Given the description of an element on the screen output the (x, y) to click on. 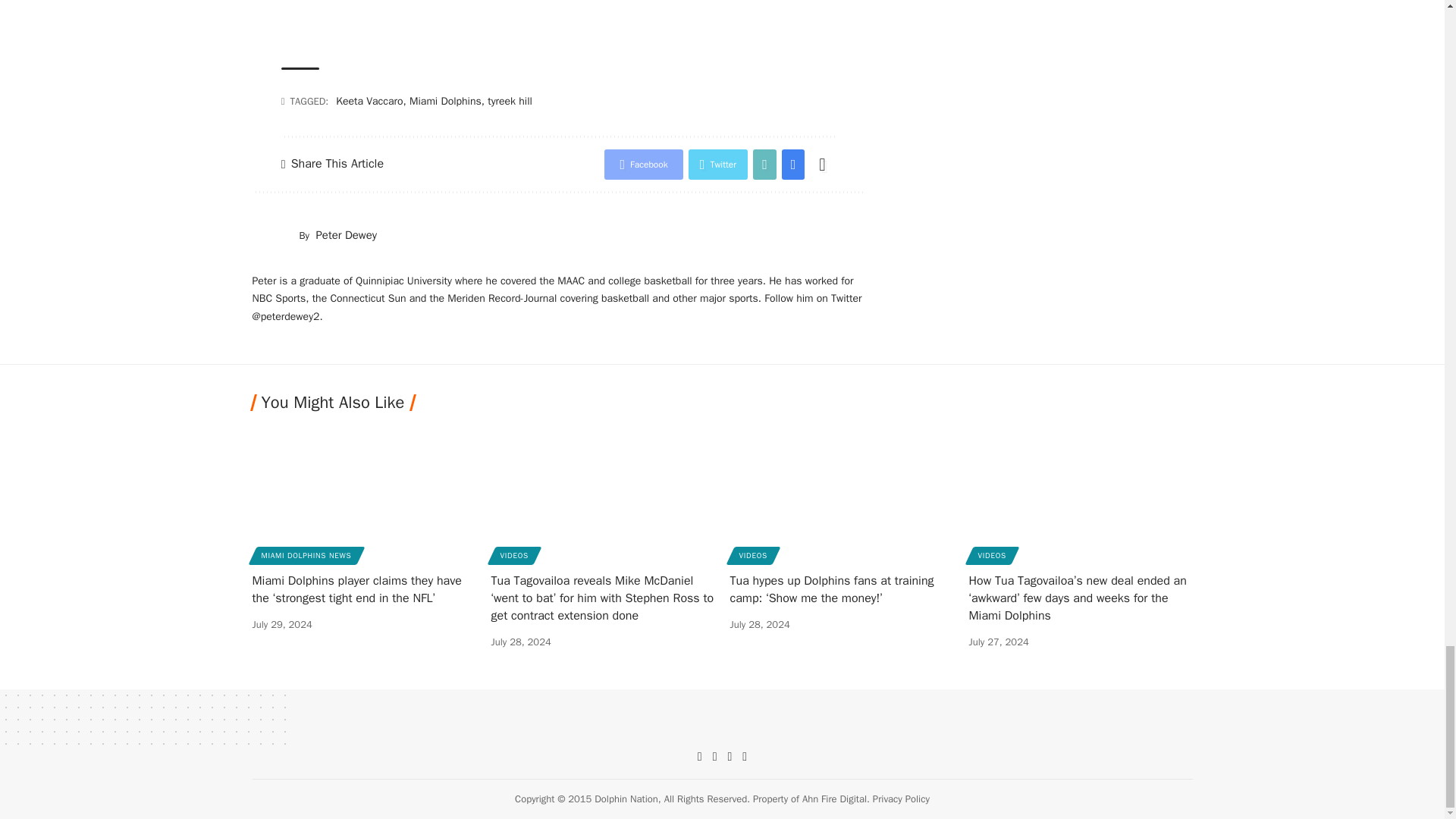
tyreek hill (509, 101)
Keeta Vaccaro (369, 101)
Miami Dolphins (445, 101)
